Given the description of an element on the screen output the (x, y) to click on. 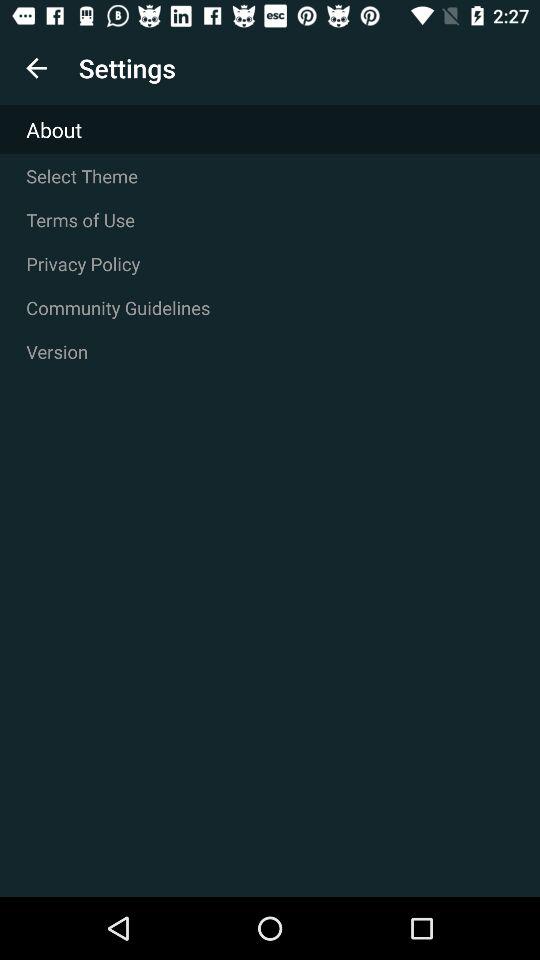
tap icon above the terms of use item (270, 176)
